Given the description of an element on the screen output the (x, y) to click on. 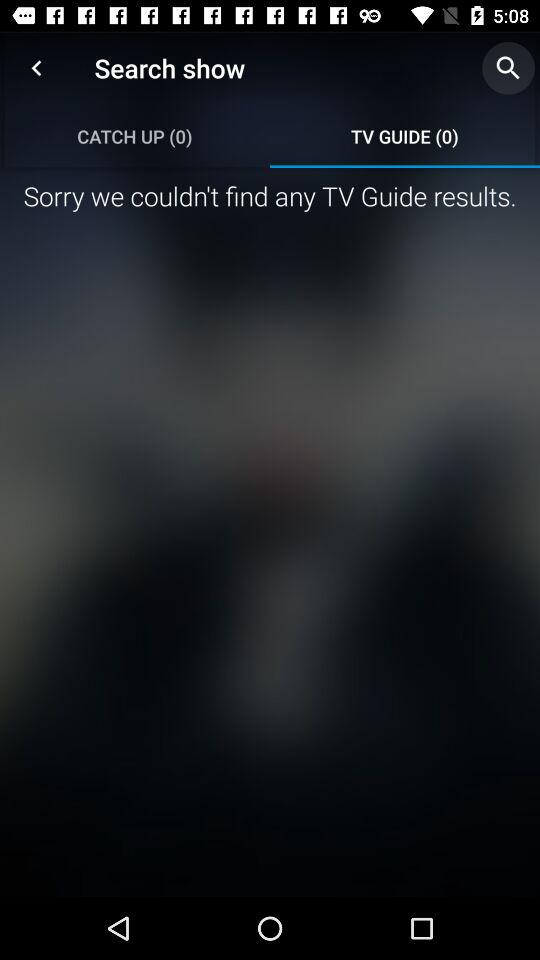
choose icon to the left of the search show item (36, 68)
